Given the description of an element on the screen output the (x, y) to click on. 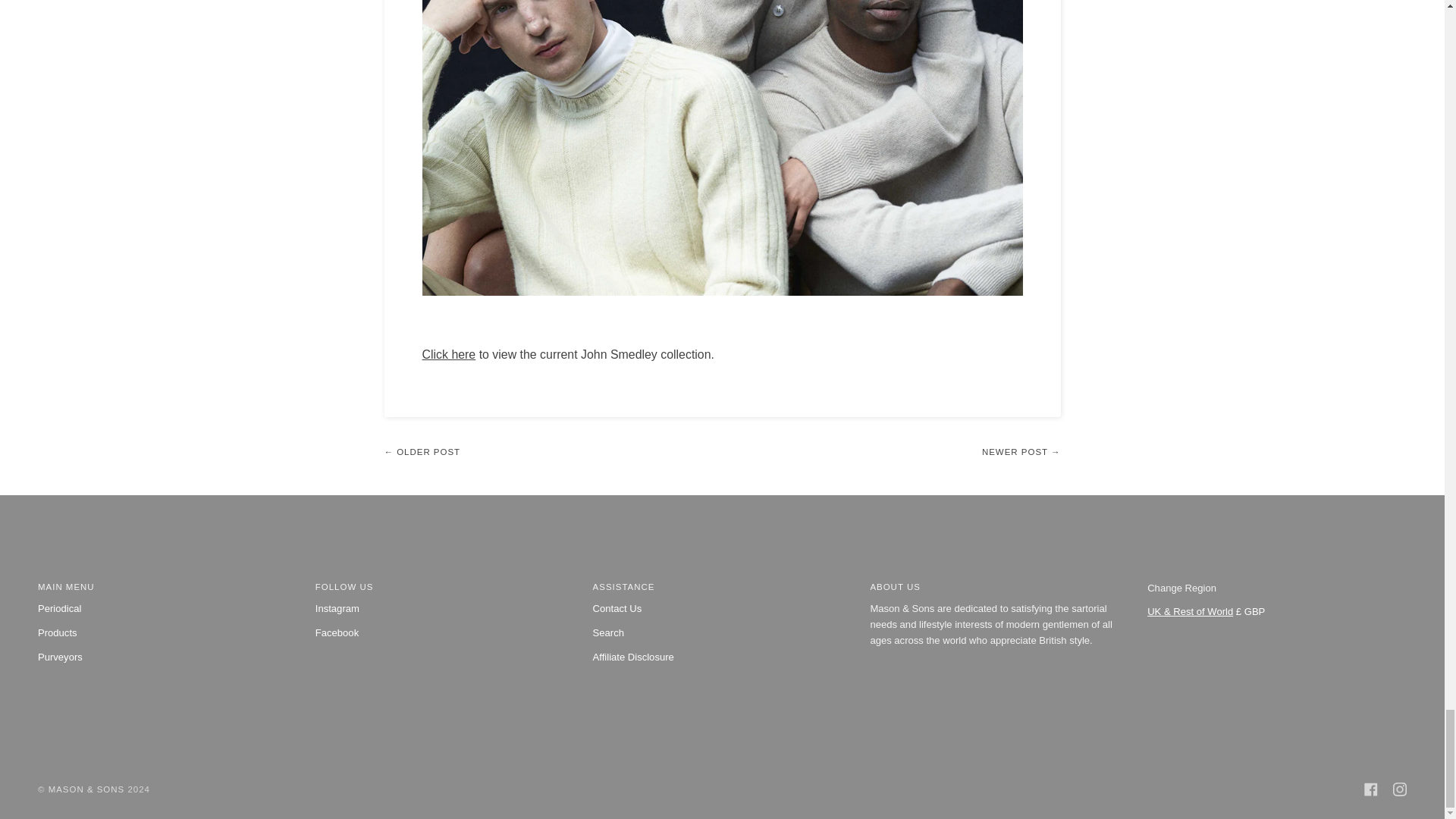
Instagram (1399, 789)
Facebook (1370, 789)
